Given the description of an element on the screen output the (x, y) to click on. 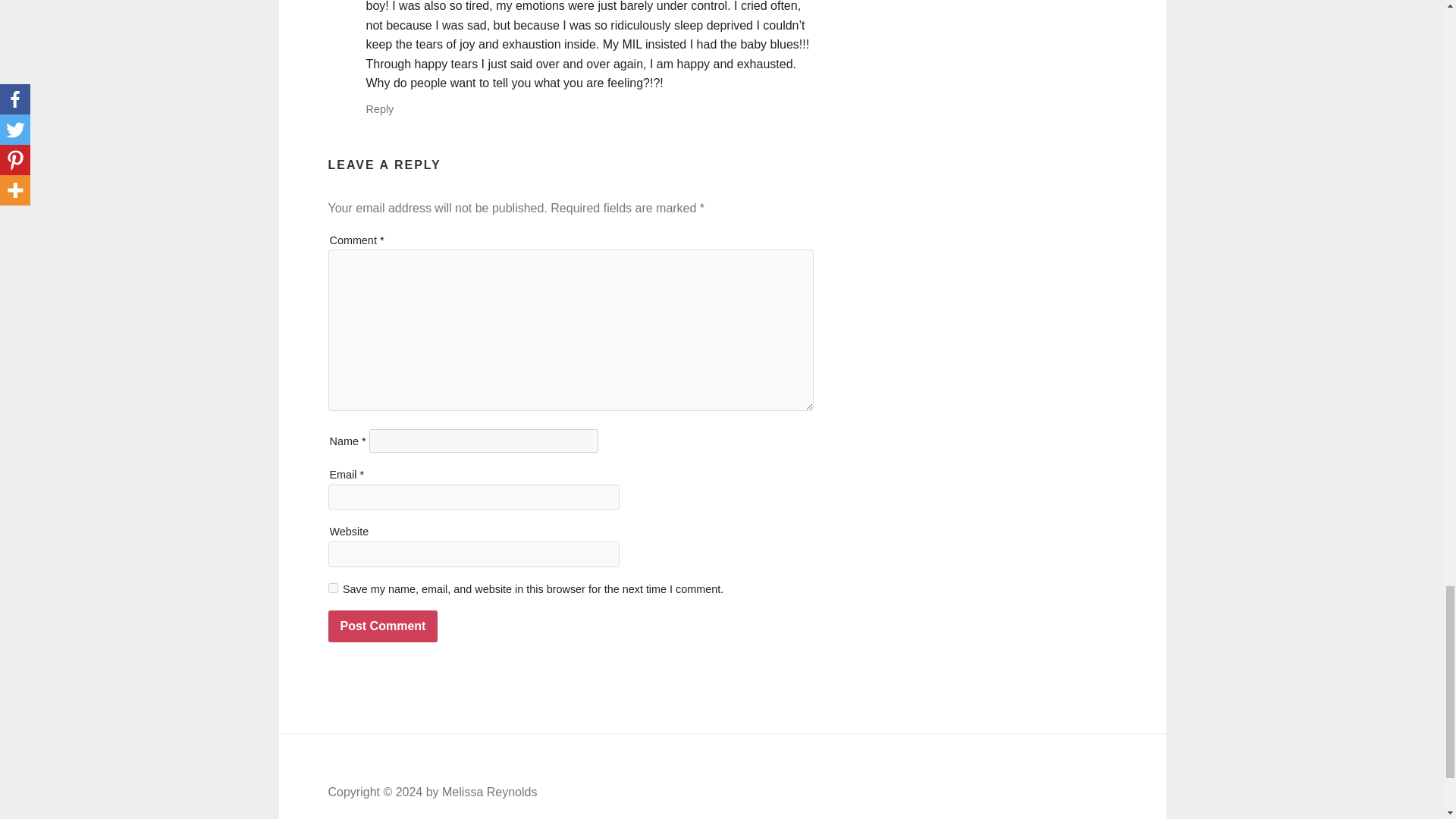
yes (332, 587)
Post Comment (382, 626)
